Given the description of an element on the screen output the (x, y) to click on. 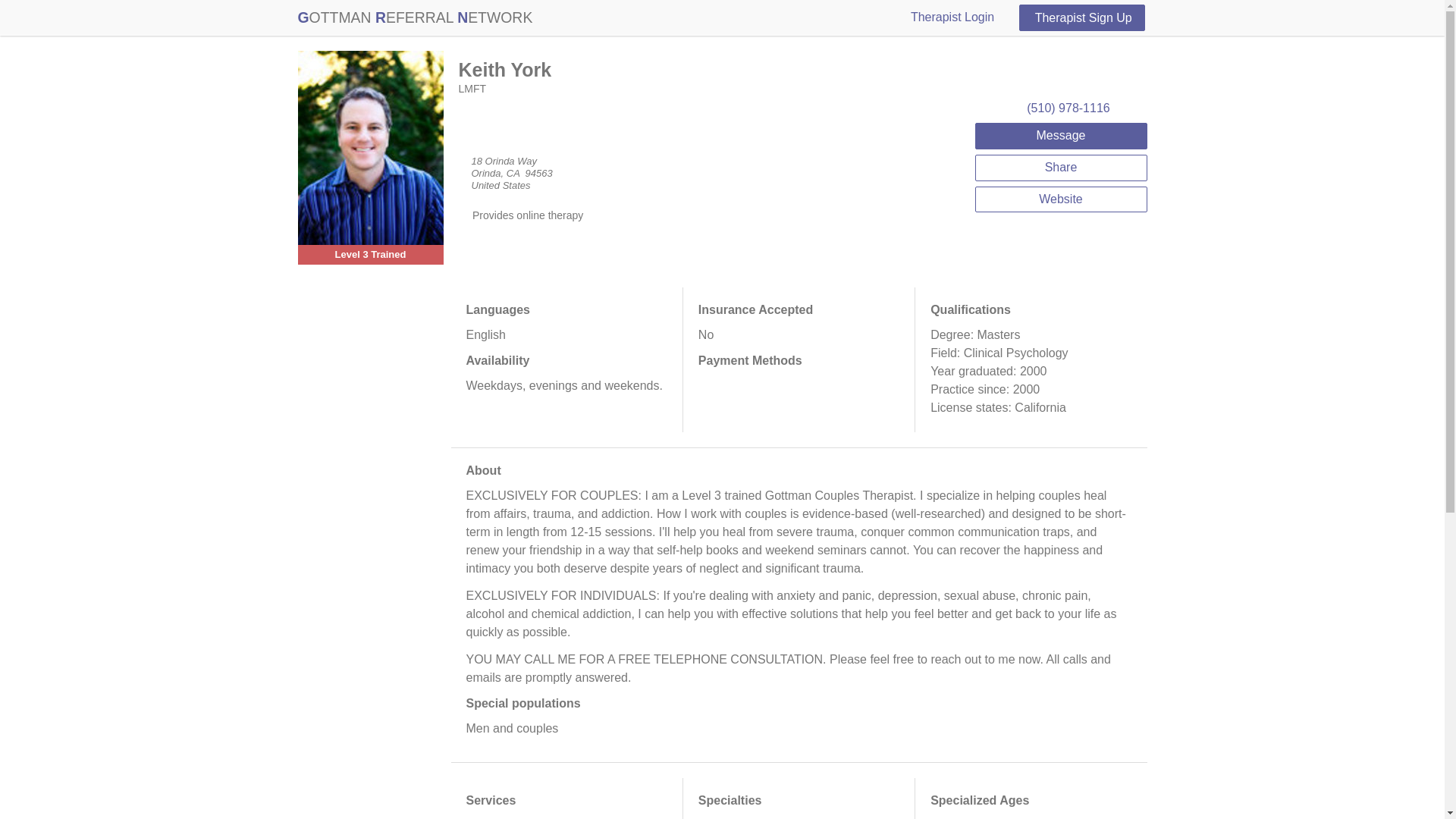
Message (1061, 135)
Share (1061, 167)
GOTTMAN REFERRAL NETWORK (414, 17)
Therapist Login (958, 17)
Website (1061, 199)
Therapist Sign Up (1081, 17)
